Given the description of an element on the screen output the (x, y) to click on. 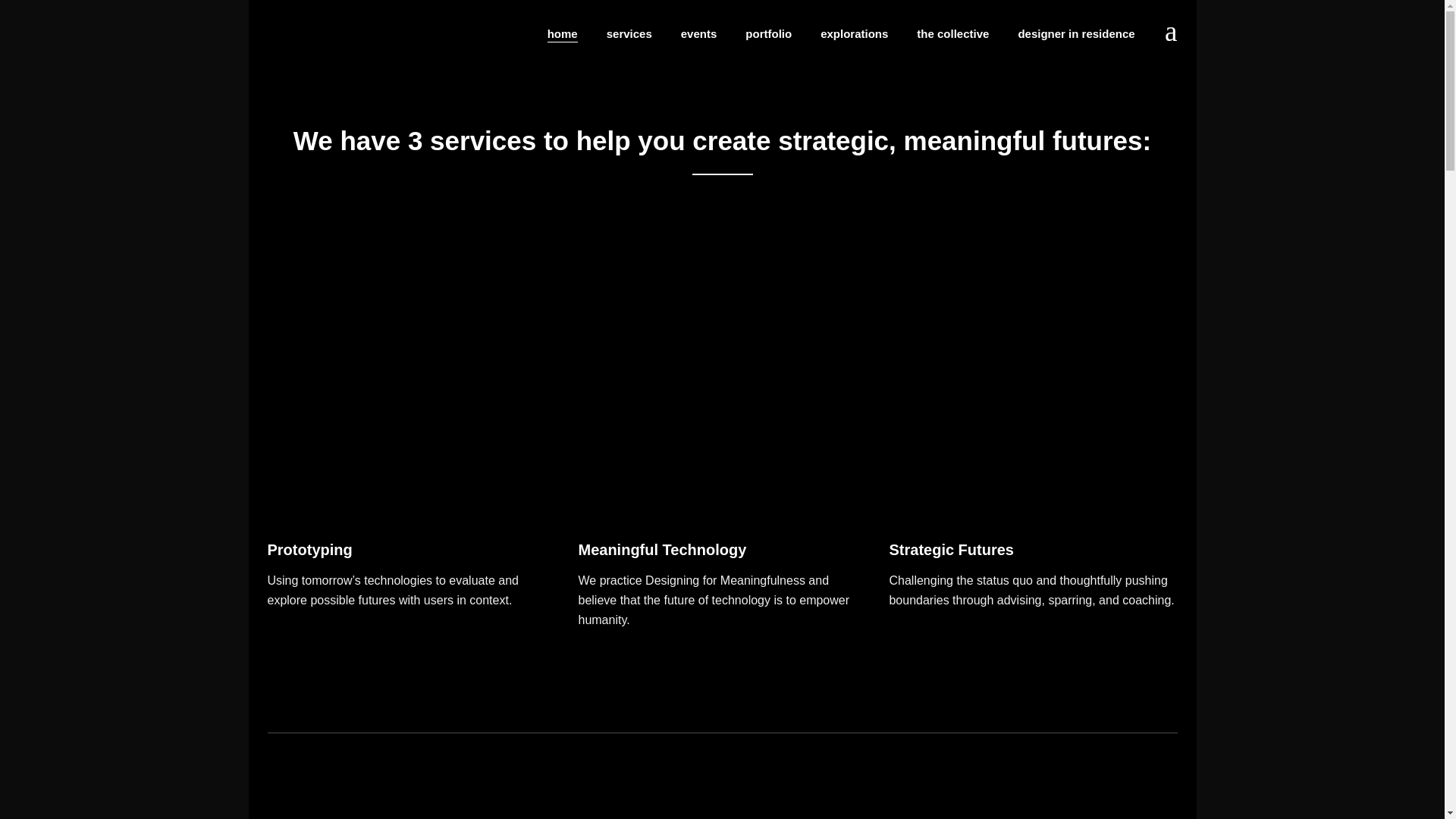
explorations (854, 33)
designer in residence (1075, 33)
events (699, 33)
the collective (952, 33)
portfolio (768, 33)
services (629, 33)
